Given the description of an element on the screen output the (x, y) to click on. 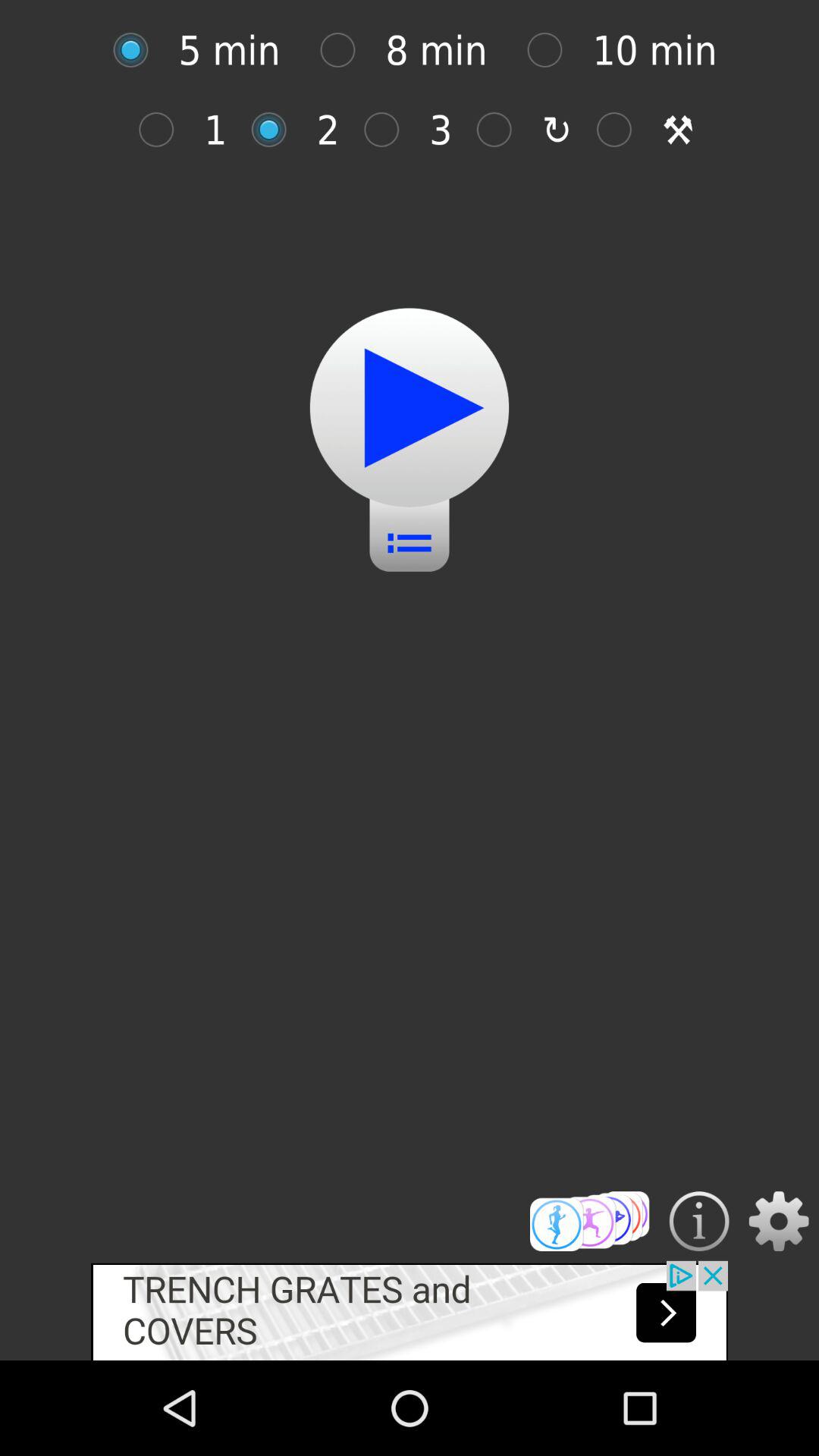
watch video (409, 407)
